Given the description of an element on the screen output the (x, y) to click on. 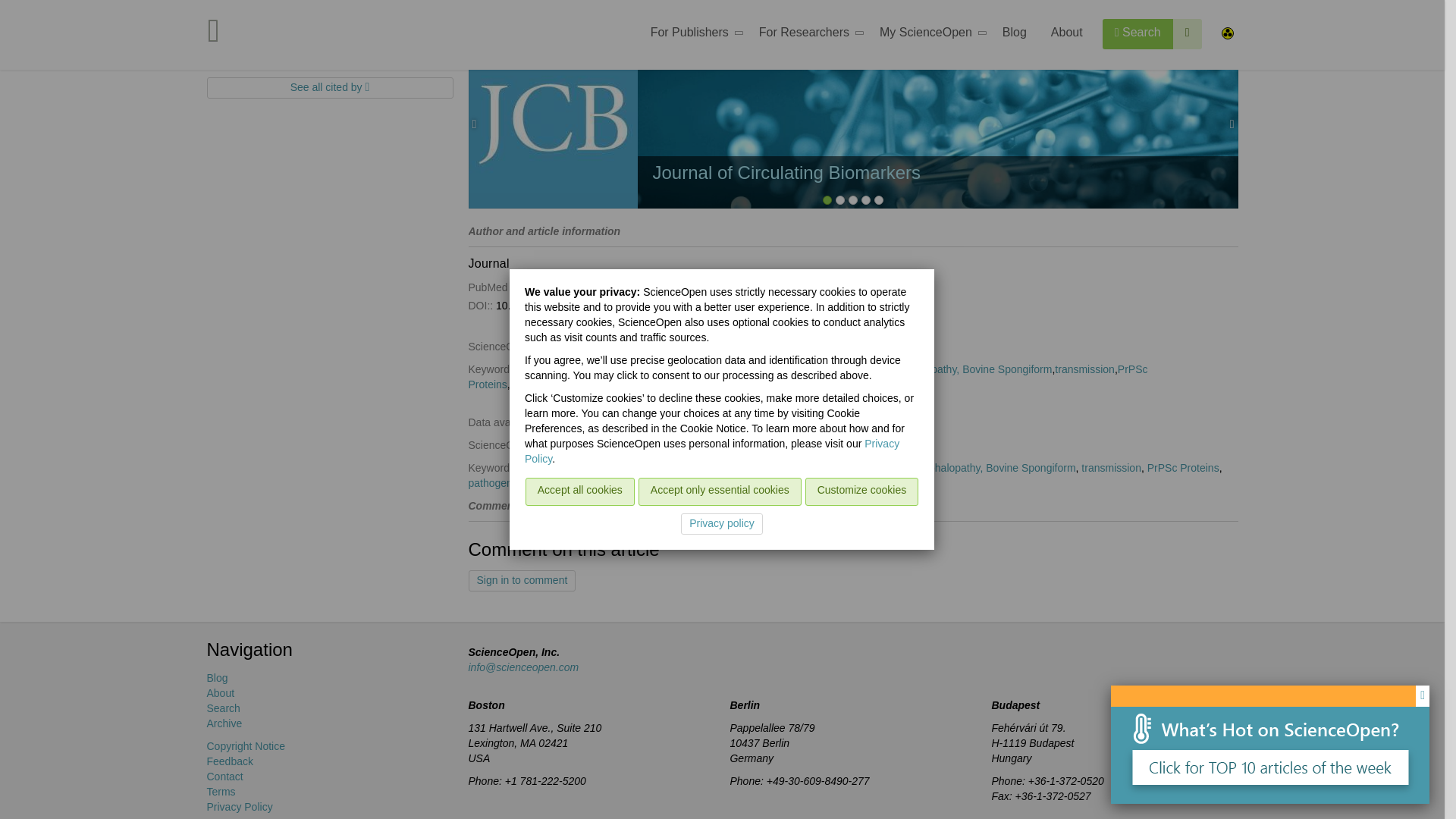
Close (1422, 56)
